Given the description of an element on the screen output the (x, y) to click on. 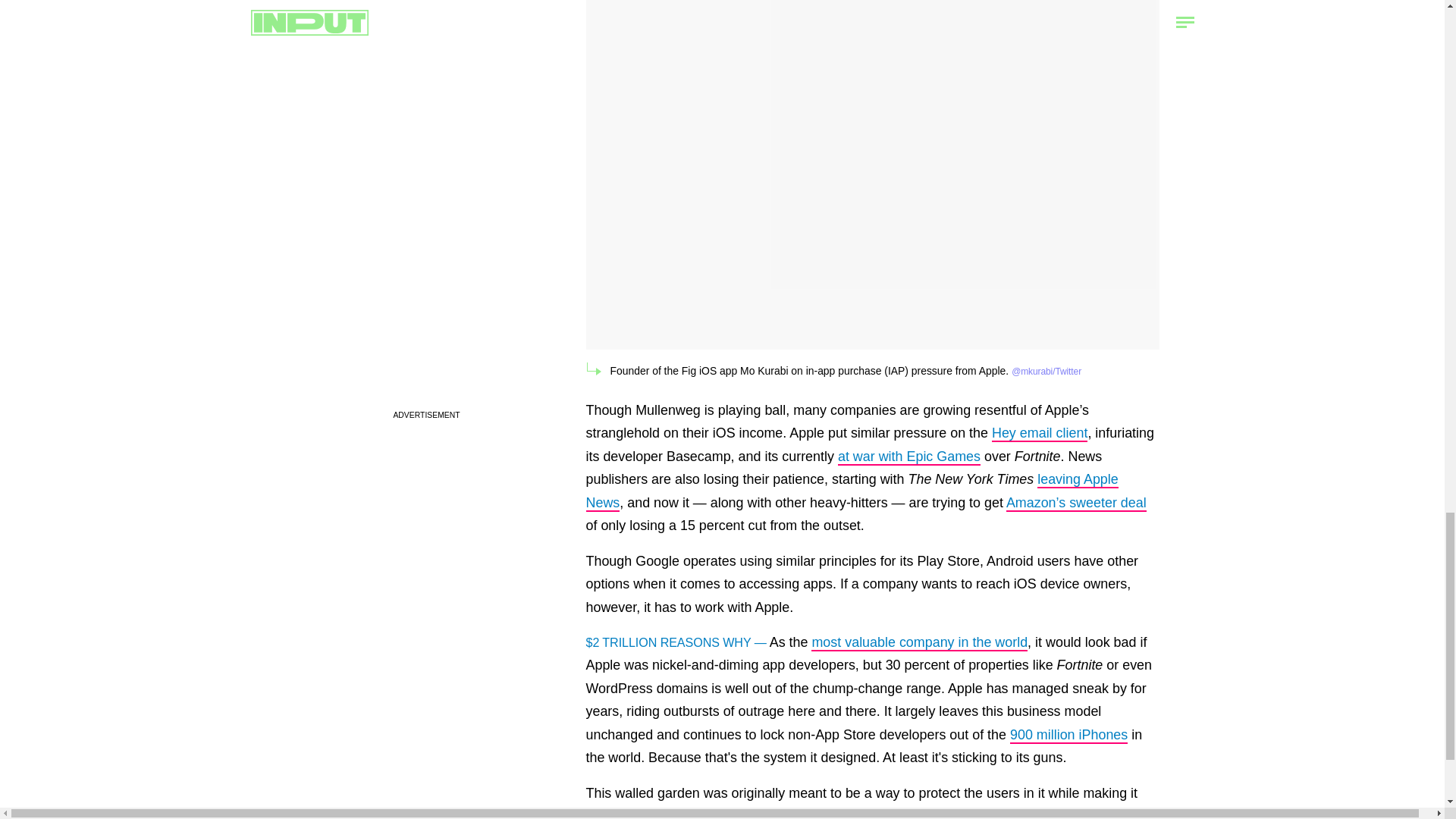
most valuable company in the world (918, 642)
900 million iPhones (1068, 735)
Hey email client (1039, 433)
at war with Epic Games (908, 457)
leaving Apple News (851, 491)
